Given the description of an element on the screen output the (x, y) to click on. 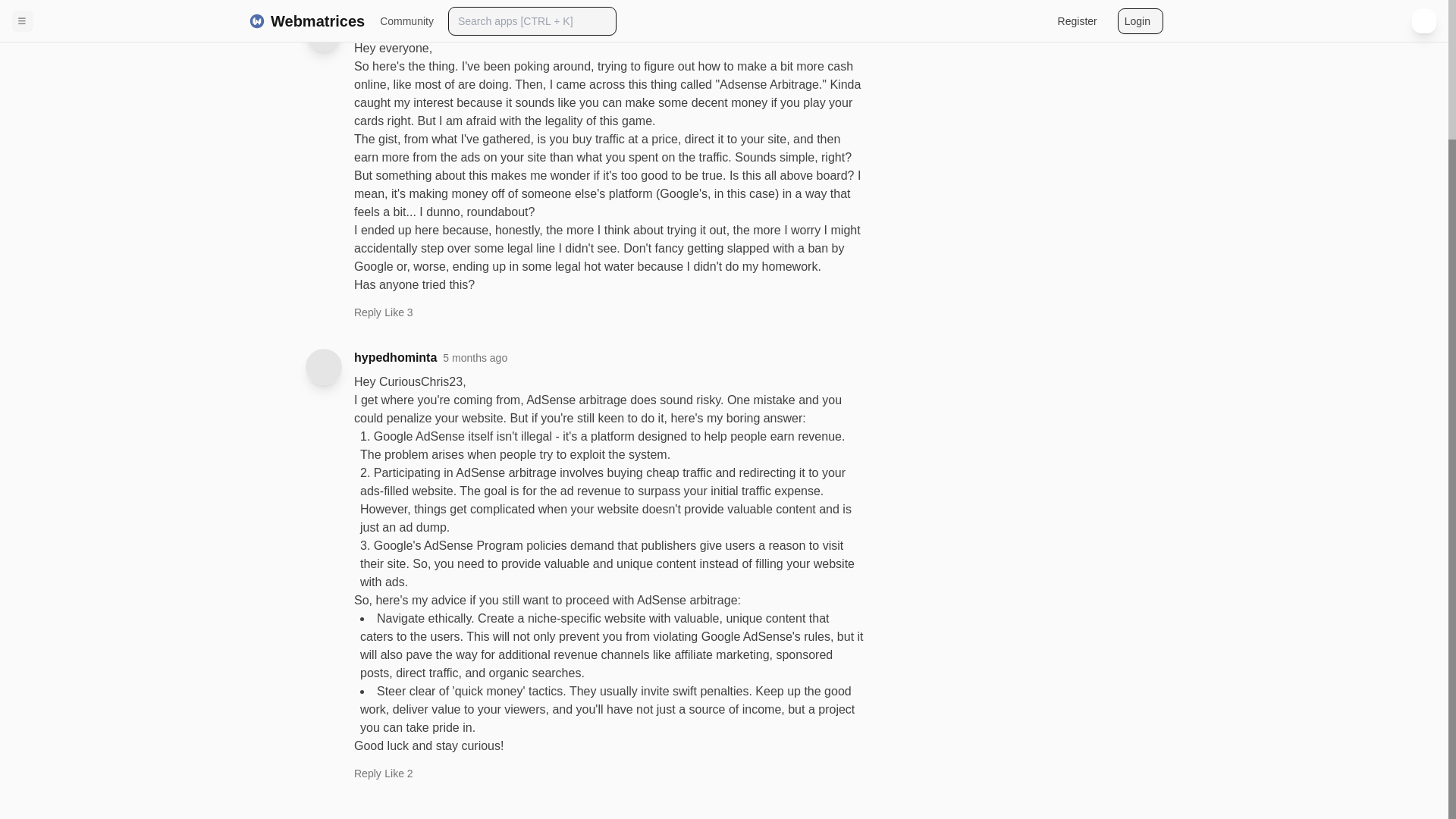
Reply (367, 315)
hypedhominta (394, 357)
5 months ago (486, 23)
digitaldoubter89 (400, 24)
5 months ago (474, 357)
Reply (367, 776)
Like 3 (398, 312)
Liked by codie 5 months ago (398, 773)
Liked by codie 5 months ago (398, 312)
Friday, February 23, 2024 11:12 PM (486, 23)
